Given the description of an element on the screen output the (x, y) to click on. 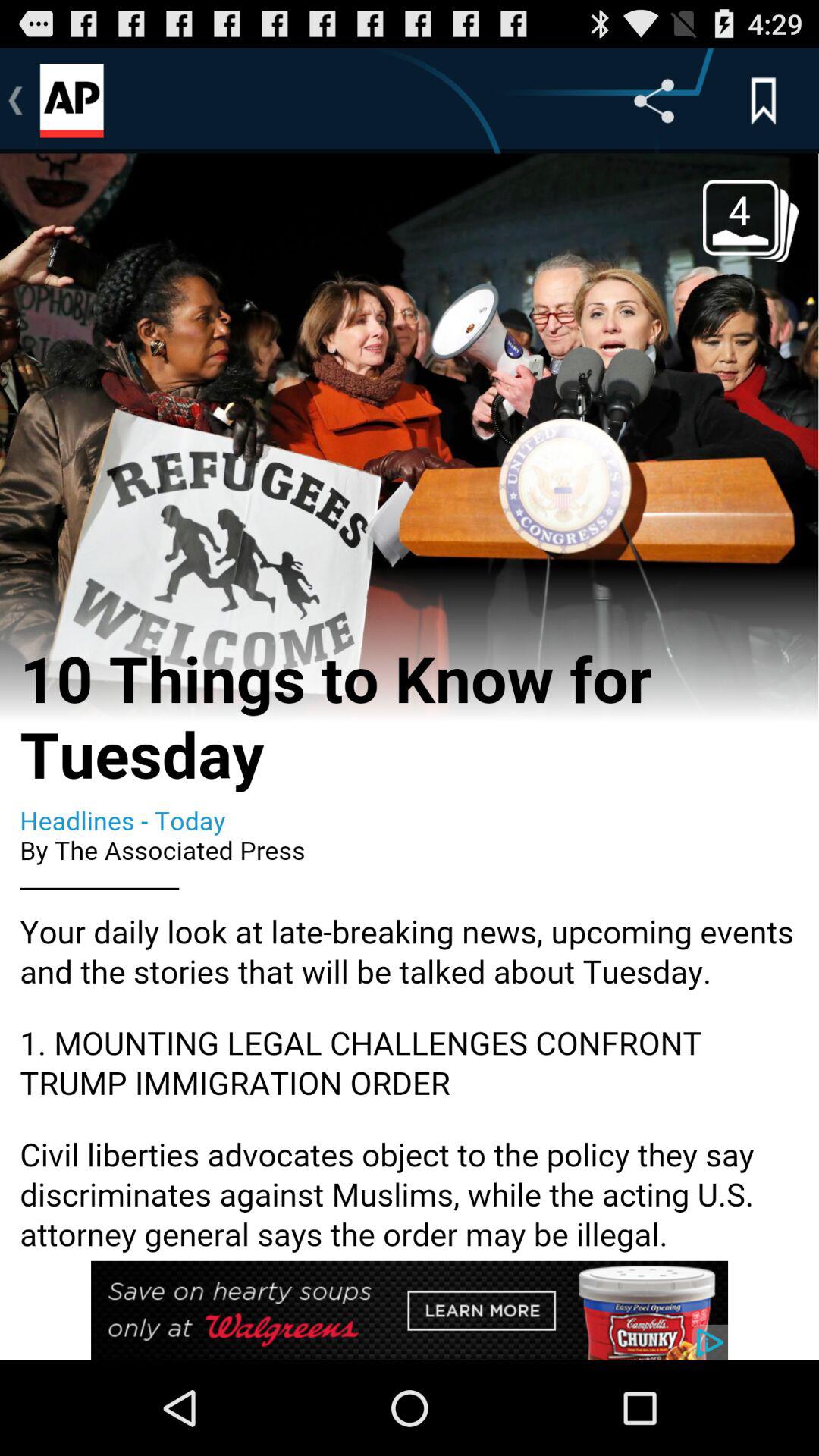
advertisement bar (409, 1310)
